Given the description of an element on the screen output the (x, y) to click on. 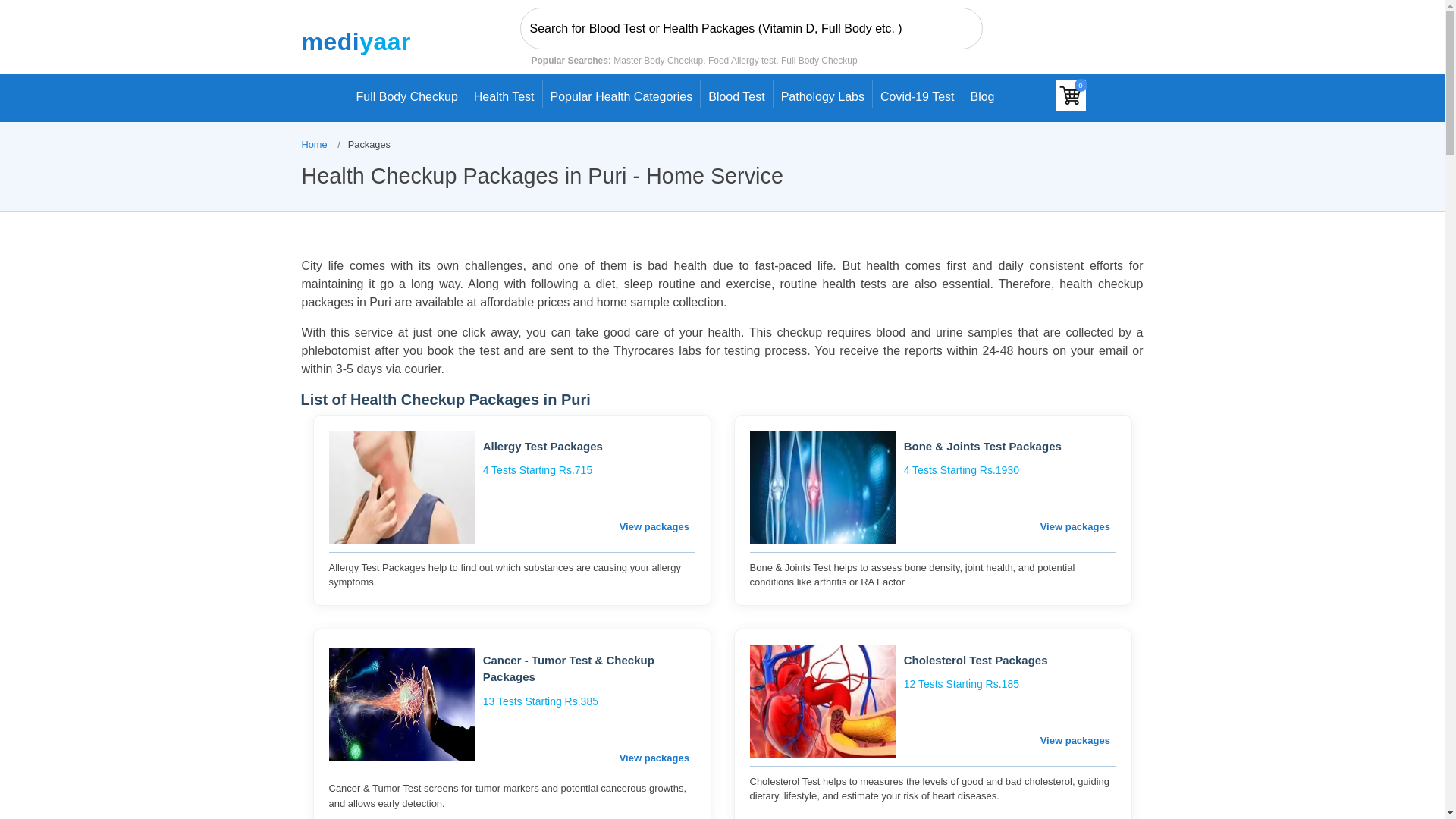
View packages (654, 526)
mediyaar (355, 41)
Popular Health Categories (622, 93)
View packages (1075, 740)
Full Body Checkup (406, 93)
View packages (654, 757)
0 (1070, 95)
Allergy Test Packages (589, 446)
Blog (981, 98)
Covid-19 Test (917, 93)
Blood Test (736, 93)
Home (314, 143)
Pathology Labs (822, 93)
Cholesterol Test Packages (1010, 660)
Health Test (504, 93)
